Given the description of an element on the screen output the (x, y) to click on. 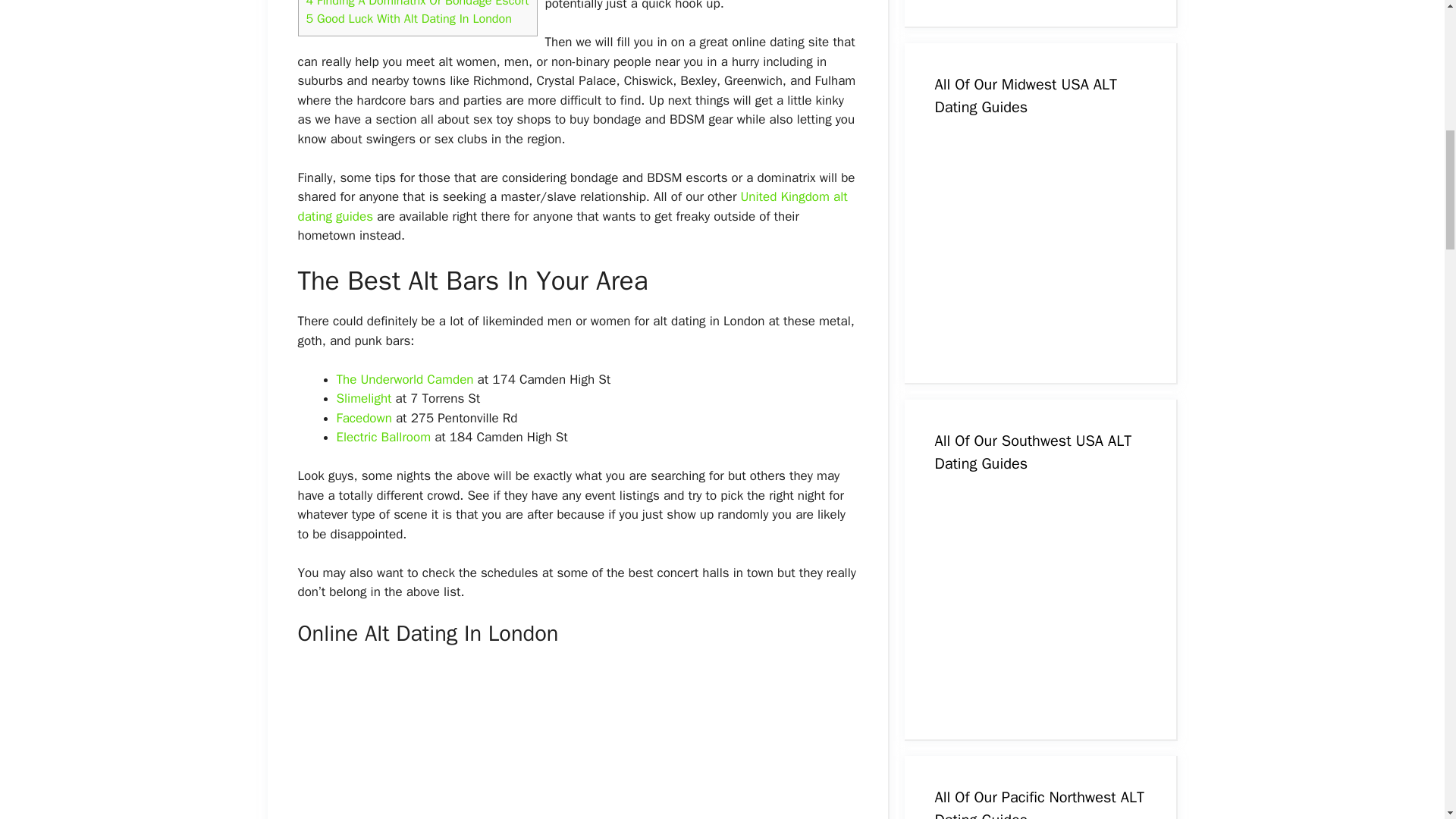
5 Good Luck With Alt Dating In London (408, 18)
Facedown (363, 417)
Slimelight (363, 398)
Electric Ballroom (383, 437)
The Underworld Camden (405, 379)
4 Finding A Dominatrix Or Bondage Escort (417, 4)
United Kingdom alt dating guides (572, 206)
